Given the description of an element on the screen output the (x, y) to click on. 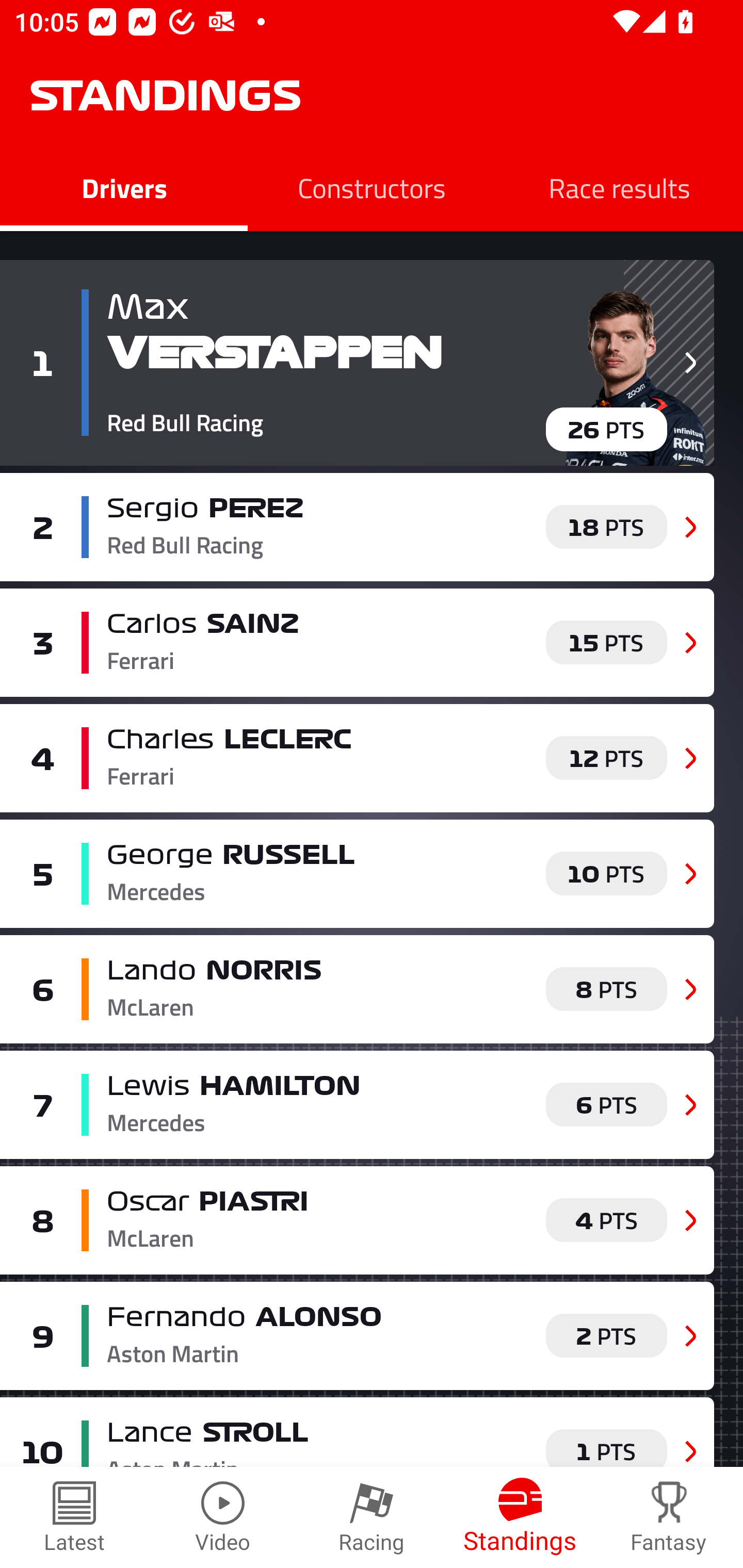
Constructors (371, 187)
Race results (619, 187)
1 Max VERSTAPPEN Red Bull Racing 26 PTS (357, 362)
2 Sergio PEREZ Red Bull Racing 18 PTS (357, 527)
3 Carlos SAINZ Ferrari 15 PTS (357, 642)
4 Charles LECLERC Ferrari 12 PTS (357, 758)
5 George RUSSELL Mercedes 10 PTS (357, 874)
6 Lando NORRIS McLaren 8 PTS (357, 988)
7 Lewis HAMILTON Mercedes 6 PTS (357, 1104)
8 Oscar PIASTRI McLaren 4 PTS (357, 1220)
9 Fernando ALONSO Aston Martin 2 PTS (357, 1335)
10 Lance STROLL Aston Martin 1 PTS (357, 1432)
Latest (74, 1517)
Video (222, 1517)
Racing (371, 1517)
Fantasy (668, 1517)
